Given the description of an element on the screen output the (x, y) to click on. 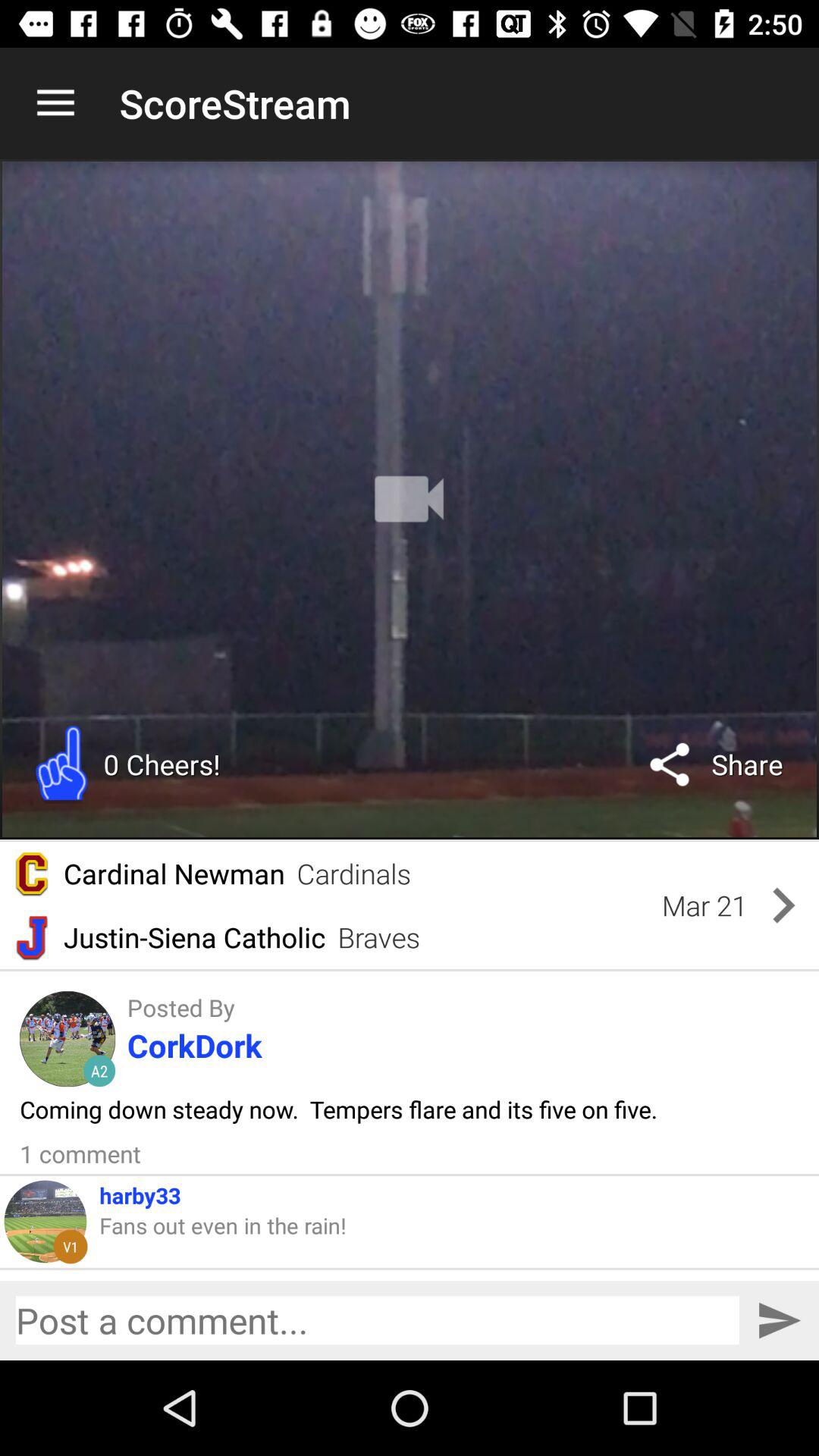
turn on icon to the left of the mar 21 icon (353, 873)
